Given the description of an element on the screen output the (x, y) to click on. 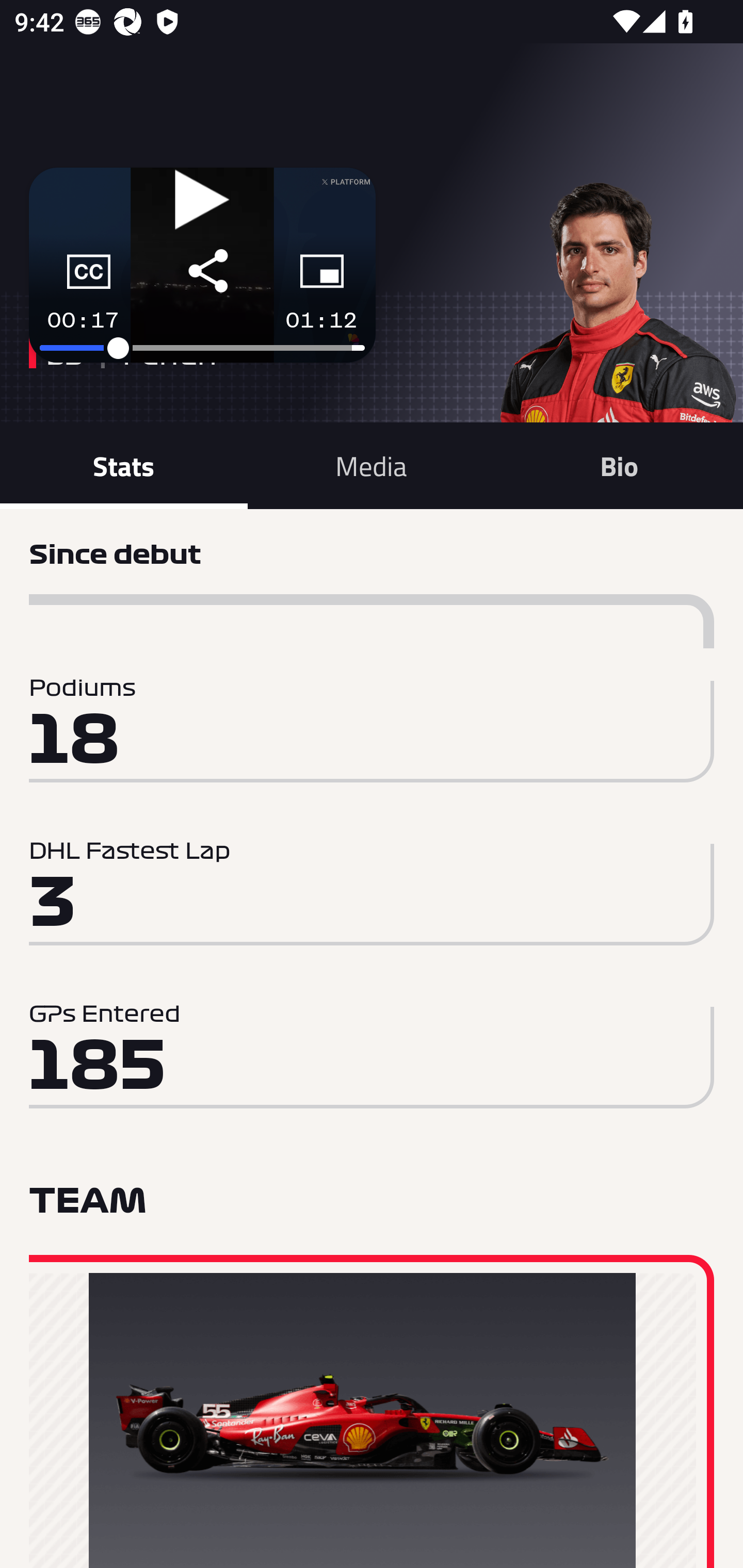
Media (371, 465)
Bio (619, 465)
